Given the description of an element on the screen output the (x, y) to click on. 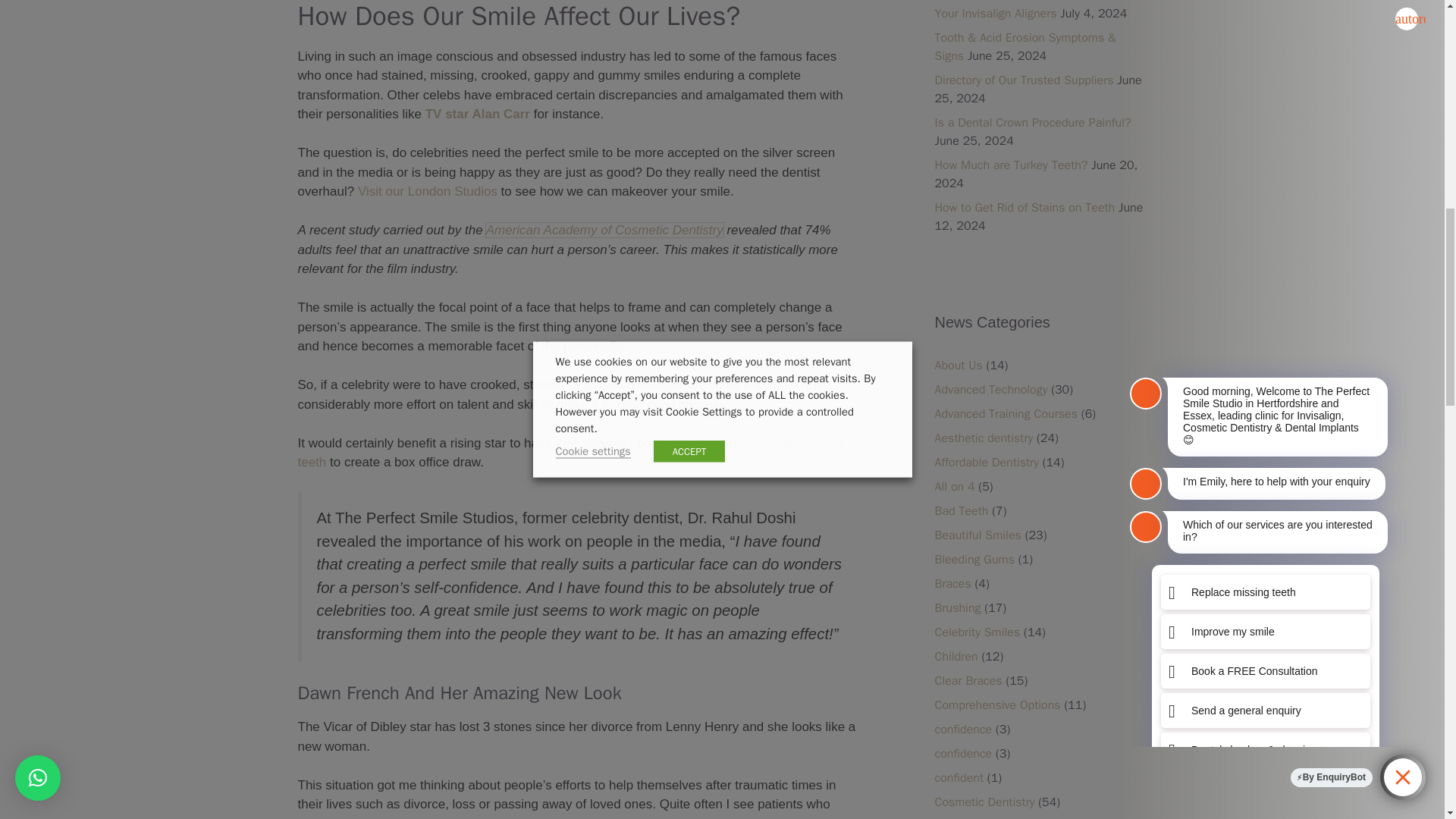
Scroll back to top (1406, 720)
